Given the description of an element on the screen output the (x, y) to click on. 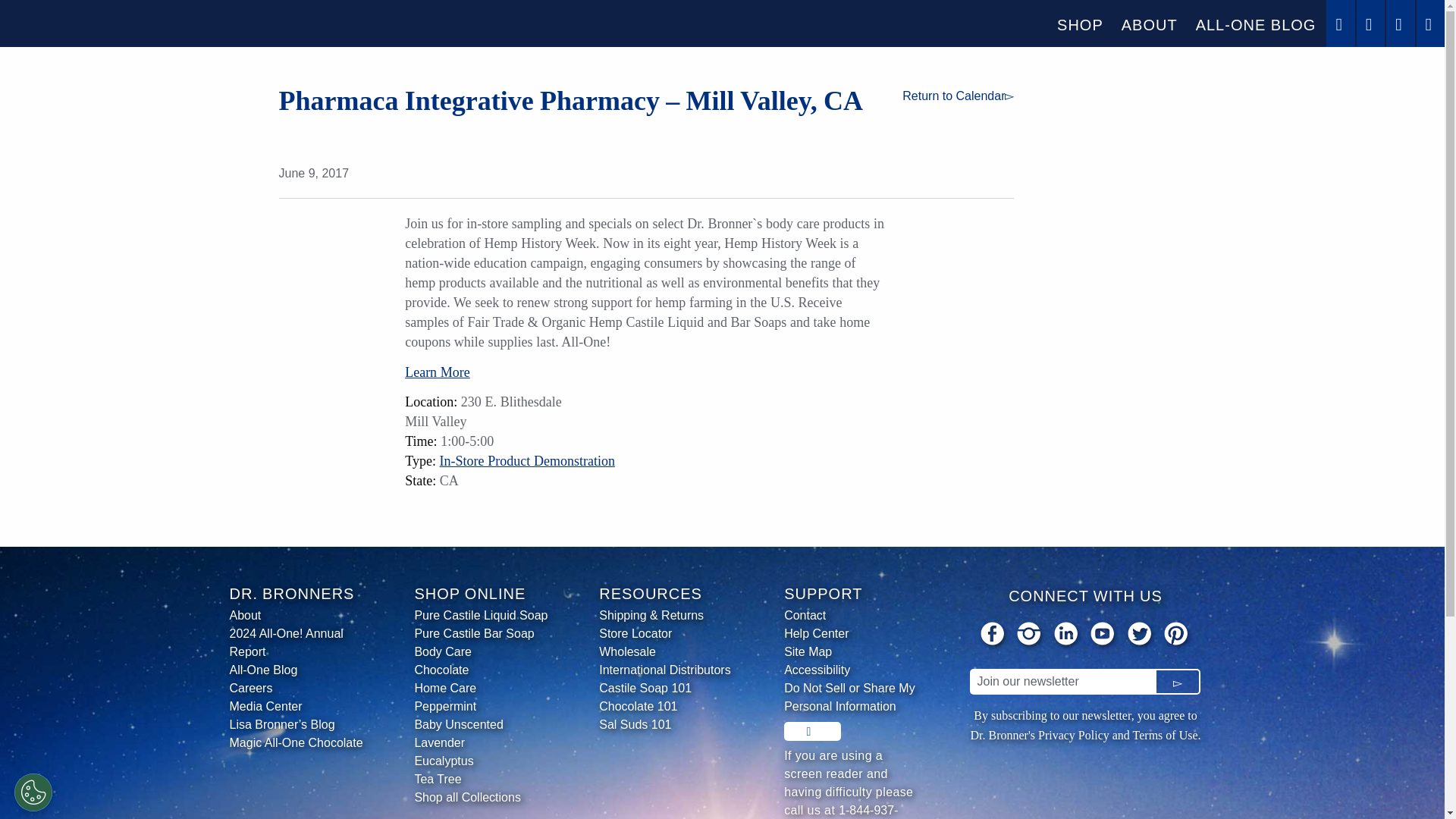
Dr. Bronner's on YouTube (1103, 635)
Pure Castile Liquid Soap (482, 615)
Dr. Bronner's on LinkedIn (1067, 635)
Shop all Collections (482, 797)
Dr. Bronner's on Facebook (992, 635)
Lavender (482, 742)
2024 All-One! Annual Report (297, 642)
Dr. Bronner's on Pinterest (1176, 635)
Dr. Bronner's on Twitter (1140, 635)
All-One Blog (297, 669)
Media Center (297, 706)
Eucalyptus (482, 761)
Chocolate (482, 669)
Pure Castile Bar Soap (482, 633)
SHOP (1080, 23)
